Given the description of an element on the screen output the (x, y) to click on. 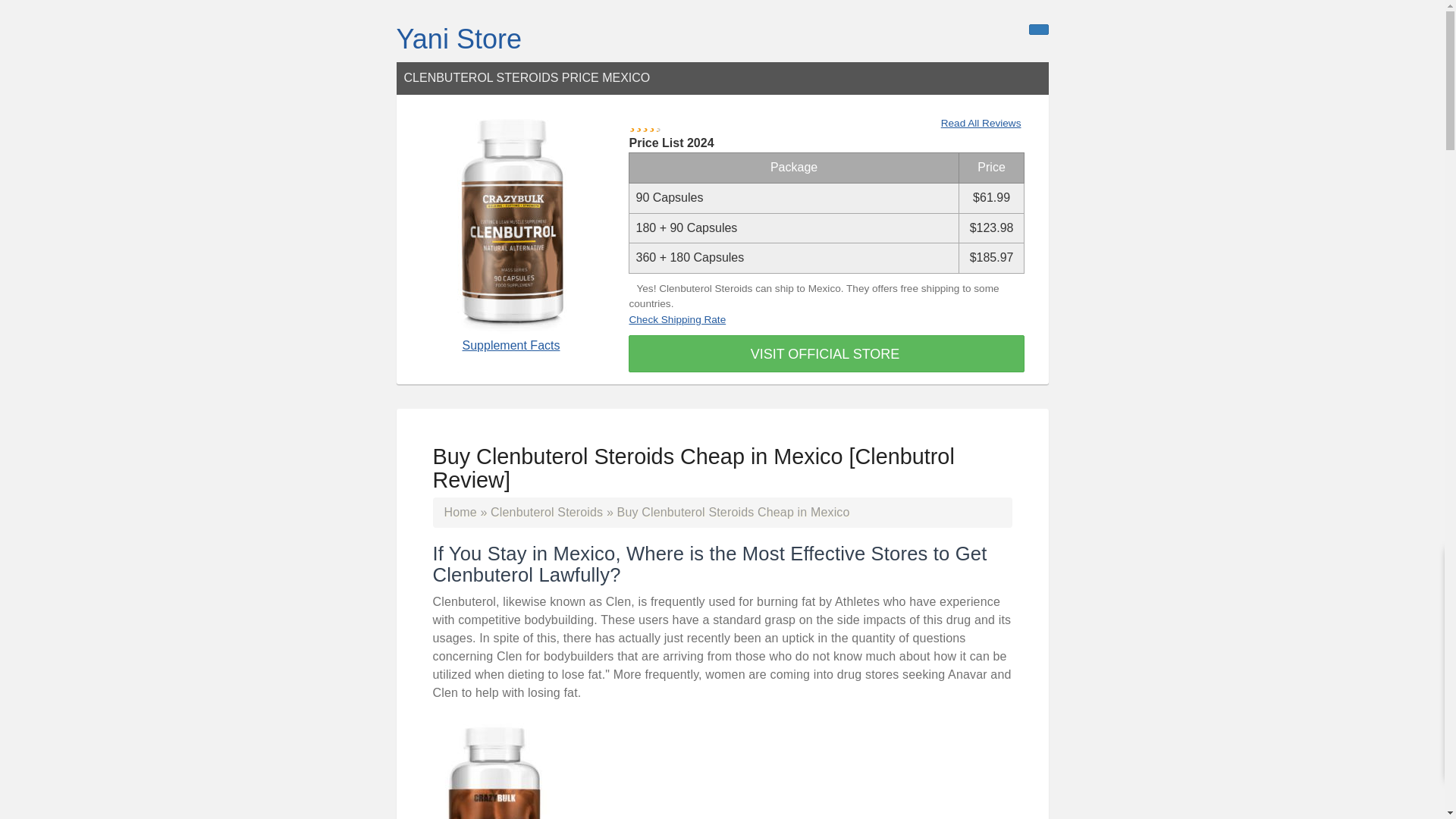
Where to Buy Clenbuterol in Mexico (494, 768)
Clenbuterol Steroids (546, 512)
Yani Store (458, 38)
Yani Store (458, 38)
Buy Clenbuterol Steroids Online  (546, 512)
Home (460, 512)
